Given the description of an element on the screen output the (x, y) to click on. 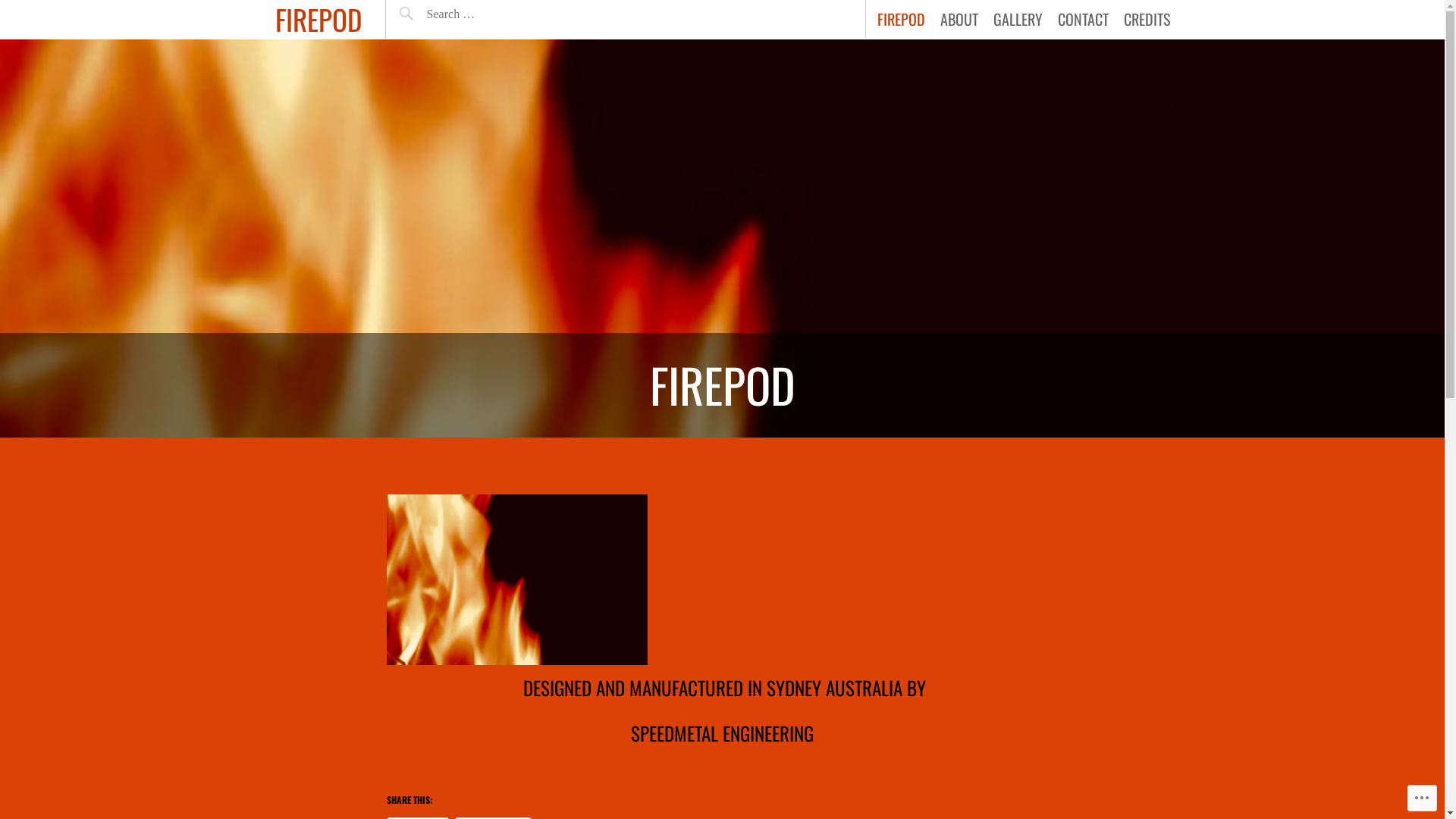
FIREPOD Element type: text (900, 18)
CONTACT Element type: text (1082, 18)
GALLERY Element type: text (1017, 18)
CREDITS Element type: text (1146, 18)
Search Element type: text (541, 16)
ABOUT Element type: text (959, 18)
